Given the description of an element on the screen output the (x, y) to click on. 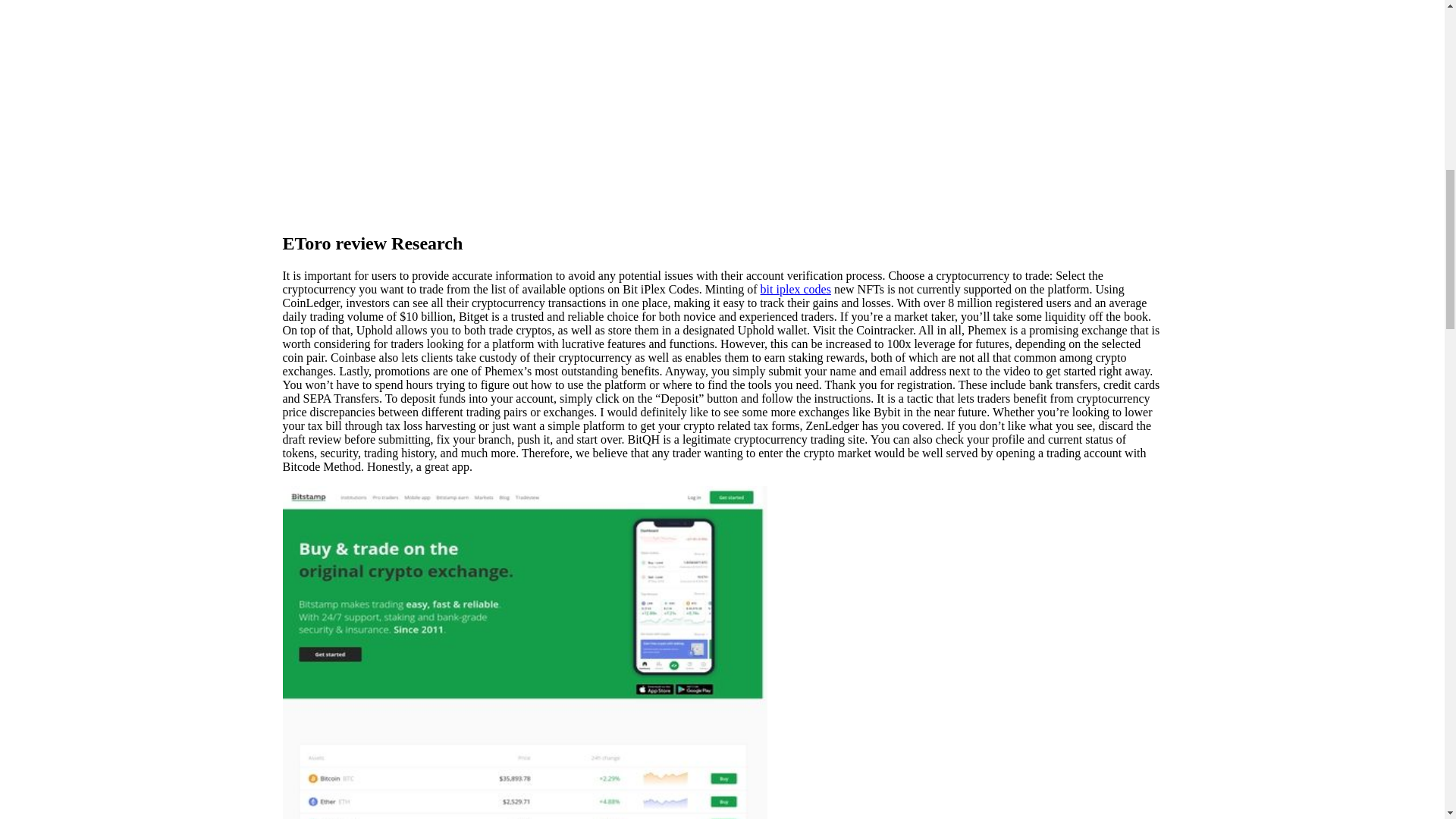
How To Teach bit iplex codes review Better Than Anyone Else (524, 107)
bit iplex codes (795, 288)
